Given the description of an element on the screen output the (x, y) to click on. 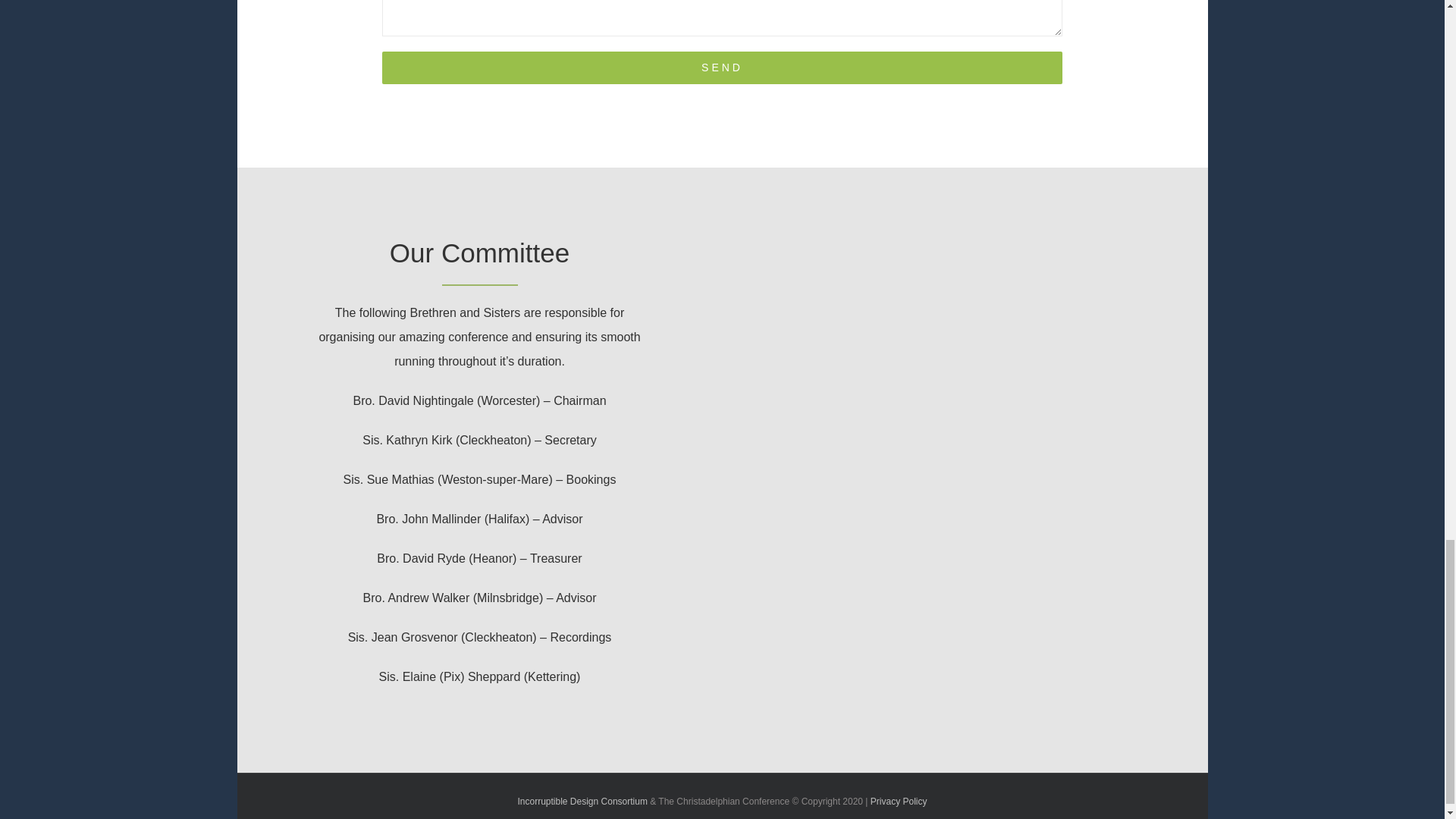
Incorruptible Design Consortium (581, 801)
Privacy Policy (898, 801)
Send (721, 67)
Send (721, 67)
